Given the description of an element on the screen output the (x, y) to click on. 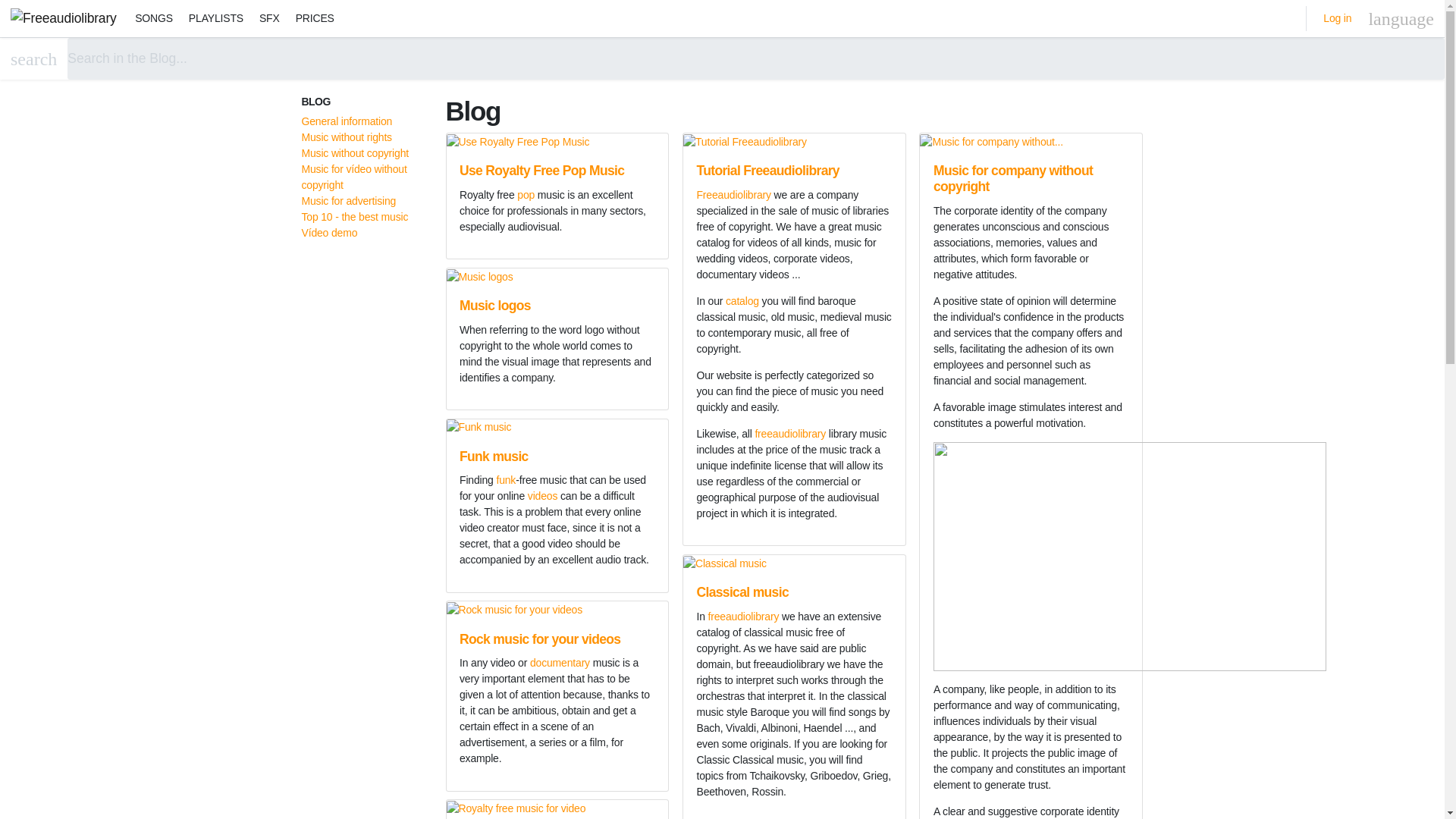
funk (505, 480)
Music without copyright (355, 152)
PRICES (314, 17)
Music for advertising (348, 200)
SFX (268, 17)
Rock music for your videos (540, 639)
SONGS (154, 17)
Top 10 - the best music (355, 216)
documentary (559, 662)
pop (525, 194)
